Given the description of an element on the screen output the (x, y) to click on. 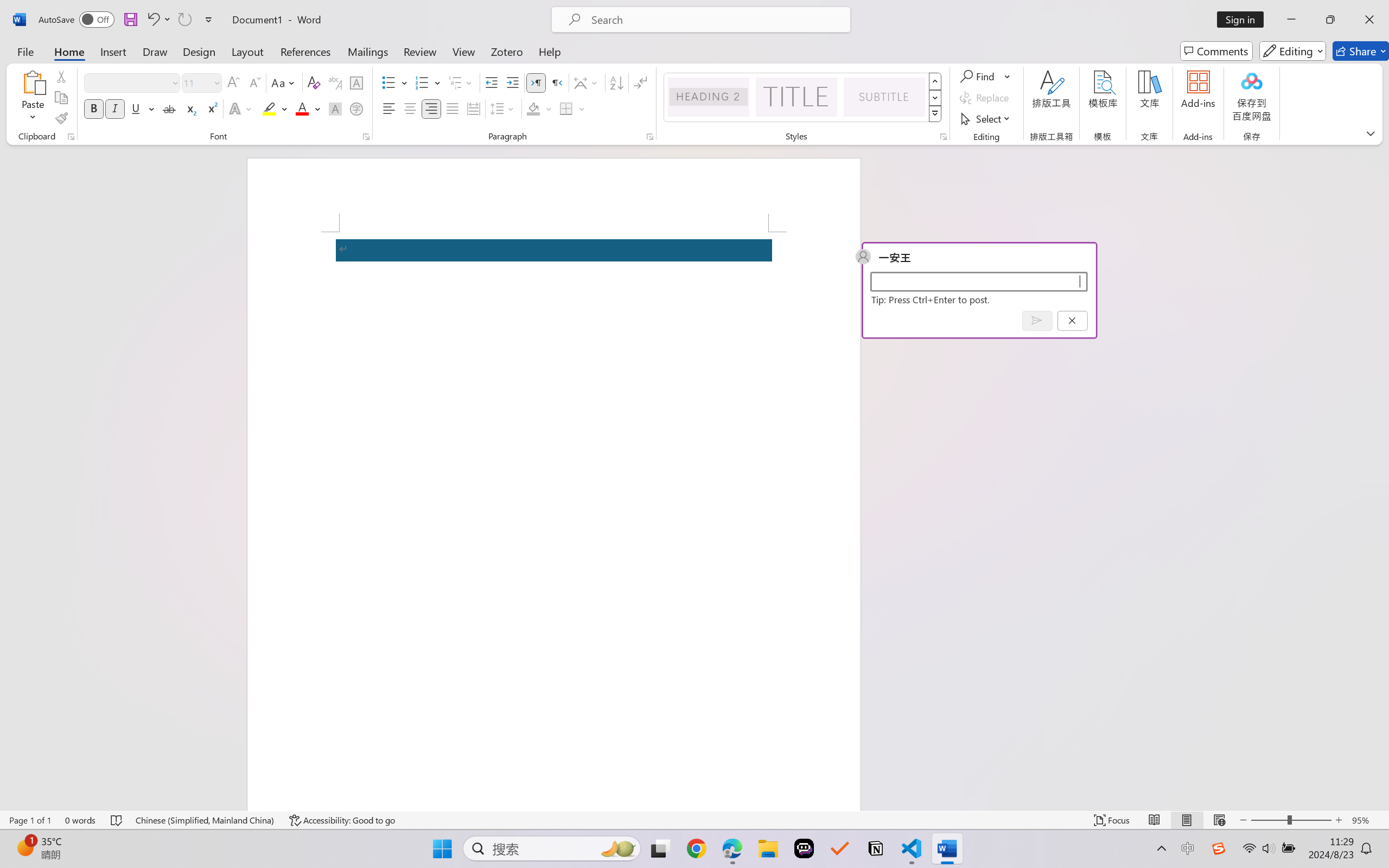
Language Chinese (Simplified, Mainland China) (205, 819)
